Given the description of an element on the screen output the (x, y) to click on. 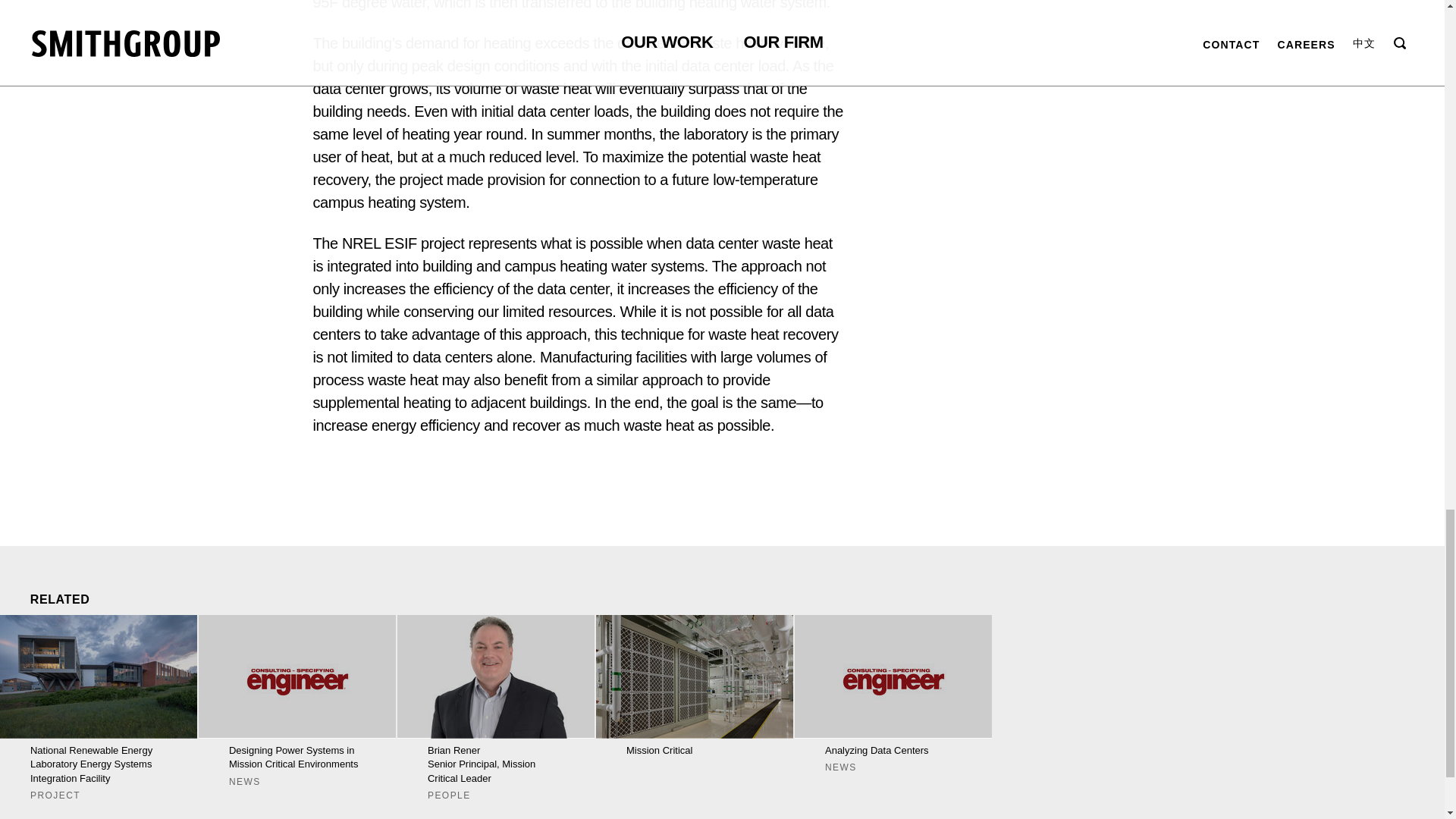
Mission Critical (495, 707)
